Given the description of an element on the screen output the (x, y) to click on. 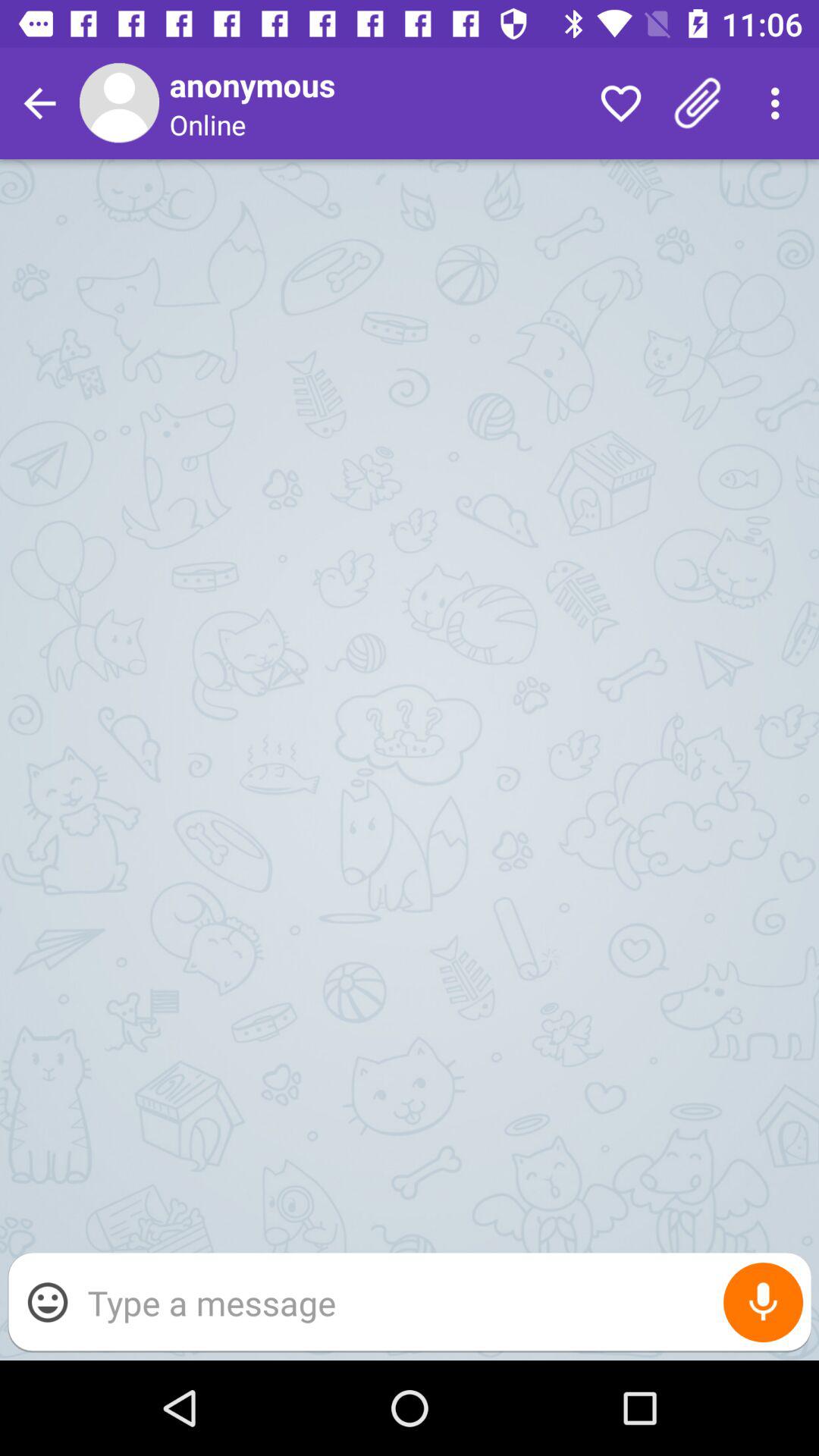
open the icon next to the anonymous (620, 103)
